Given the description of an element on the screen output the (x, y) to click on. 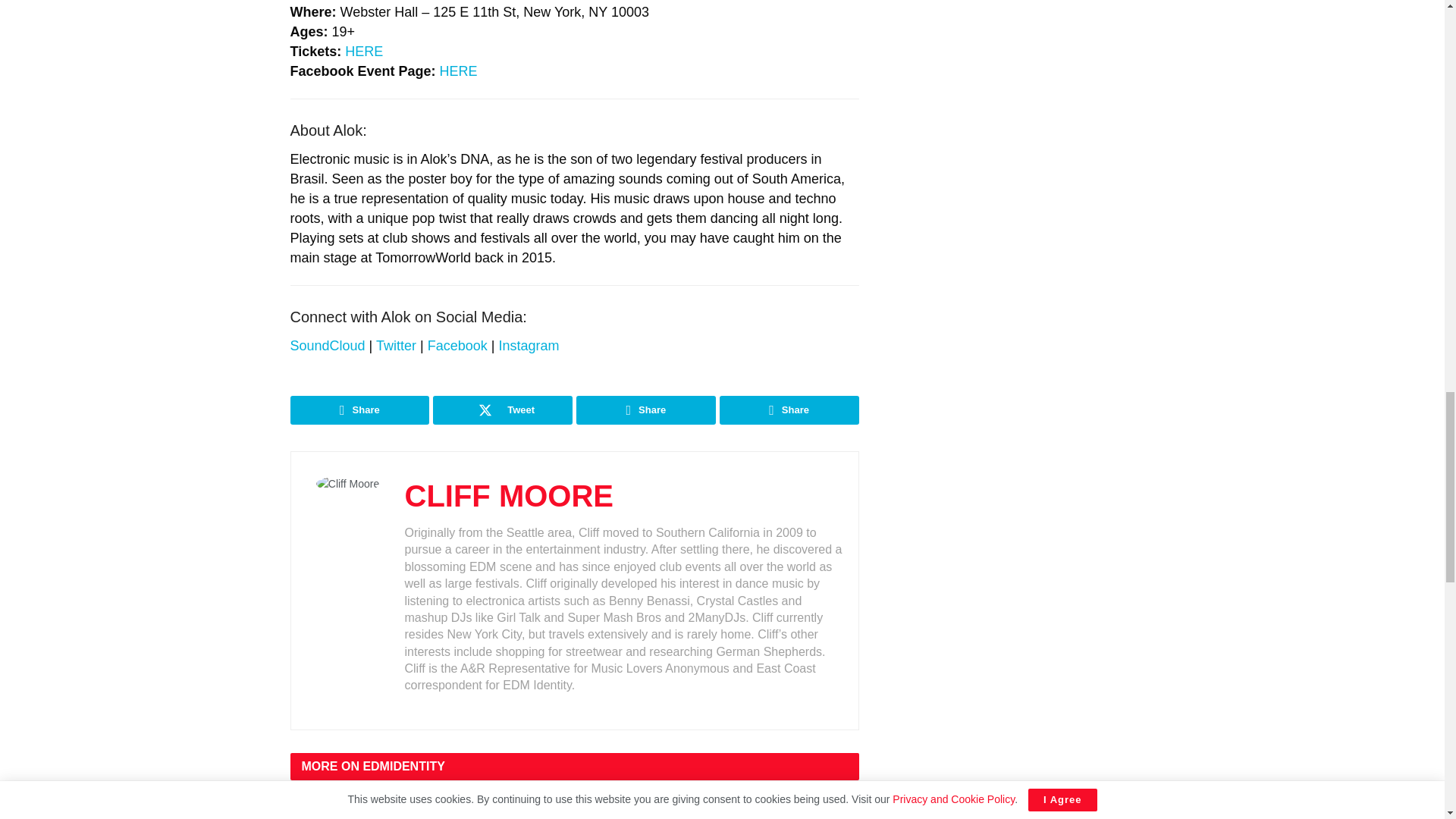
Twitter (397, 345)
Instagram (528, 345)
Facebook (460, 345)
HERE (458, 70)
SoundCloud (328, 345)
Tweet (502, 410)
HERE (363, 51)
Share (359, 410)
